Given the description of an element on the screen output the (x, y) to click on. 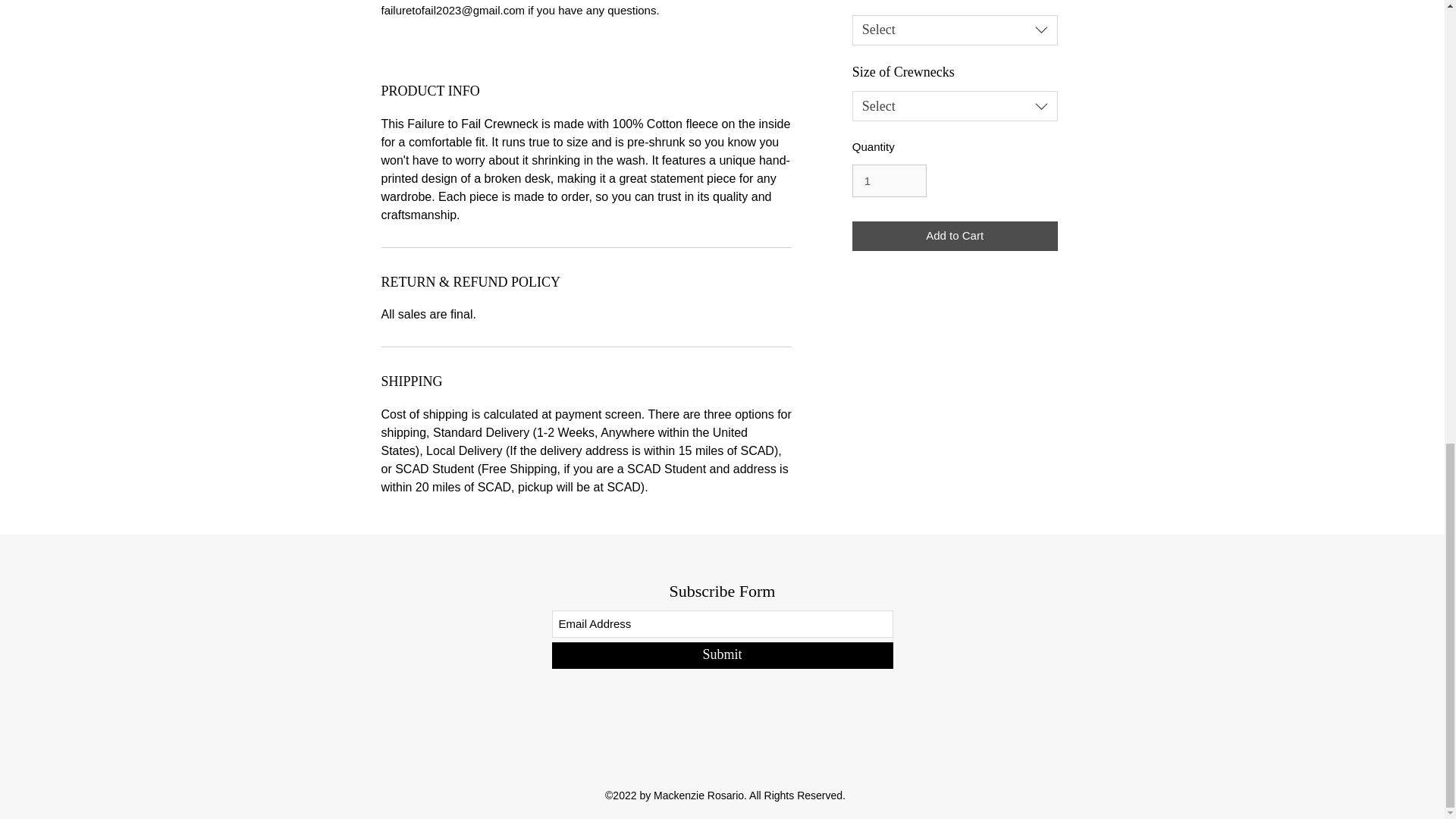
Submit (722, 655)
Add to Cart (954, 235)
Select (954, 105)
1 (888, 181)
Select (954, 30)
